Given the description of an element on the screen output the (x, y) to click on. 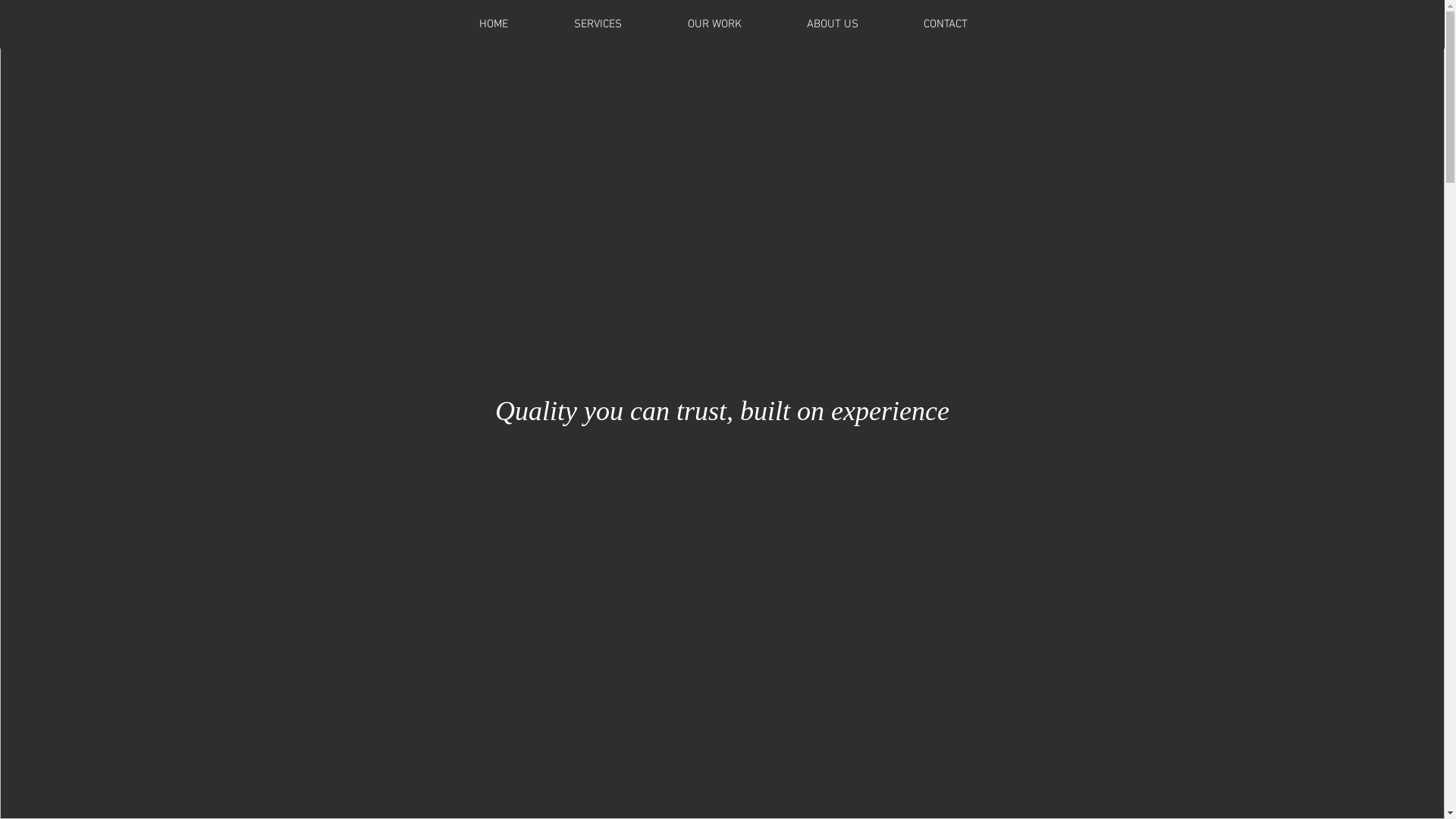
HOME Element type: text (492, 24)
CONTACT Element type: text (944, 24)
OUR WORK Element type: text (714, 24)
SERVICES Element type: text (598, 24)
ABOUT US Element type: text (831, 24)
Quality you can trust, built on experience Element type: text (722, 410)
